Given the description of an element on the screen output the (x, y) to click on. 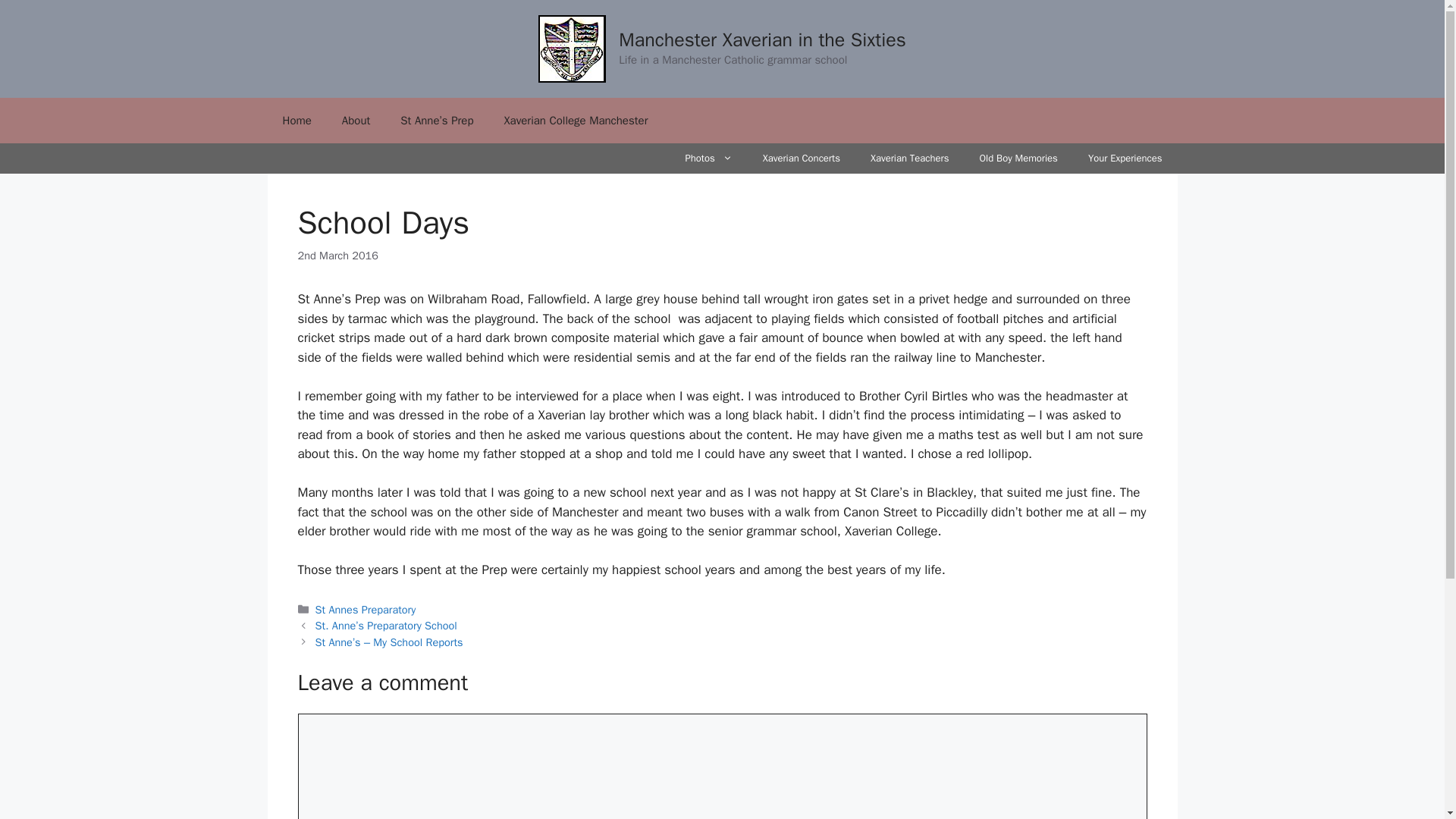
Xaverian Concerts (802, 158)
Home (296, 120)
Xaverian Teachers (909, 158)
St Annes Preparatory (365, 609)
Photos (707, 158)
Manchester Xaverian in the Sixties (761, 39)
About (355, 120)
Your Experiences (1125, 158)
Old Boy Memories (1018, 158)
Xaverian College Manchester (576, 120)
